Given the description of an element on the screen output the (x, y) to click on. 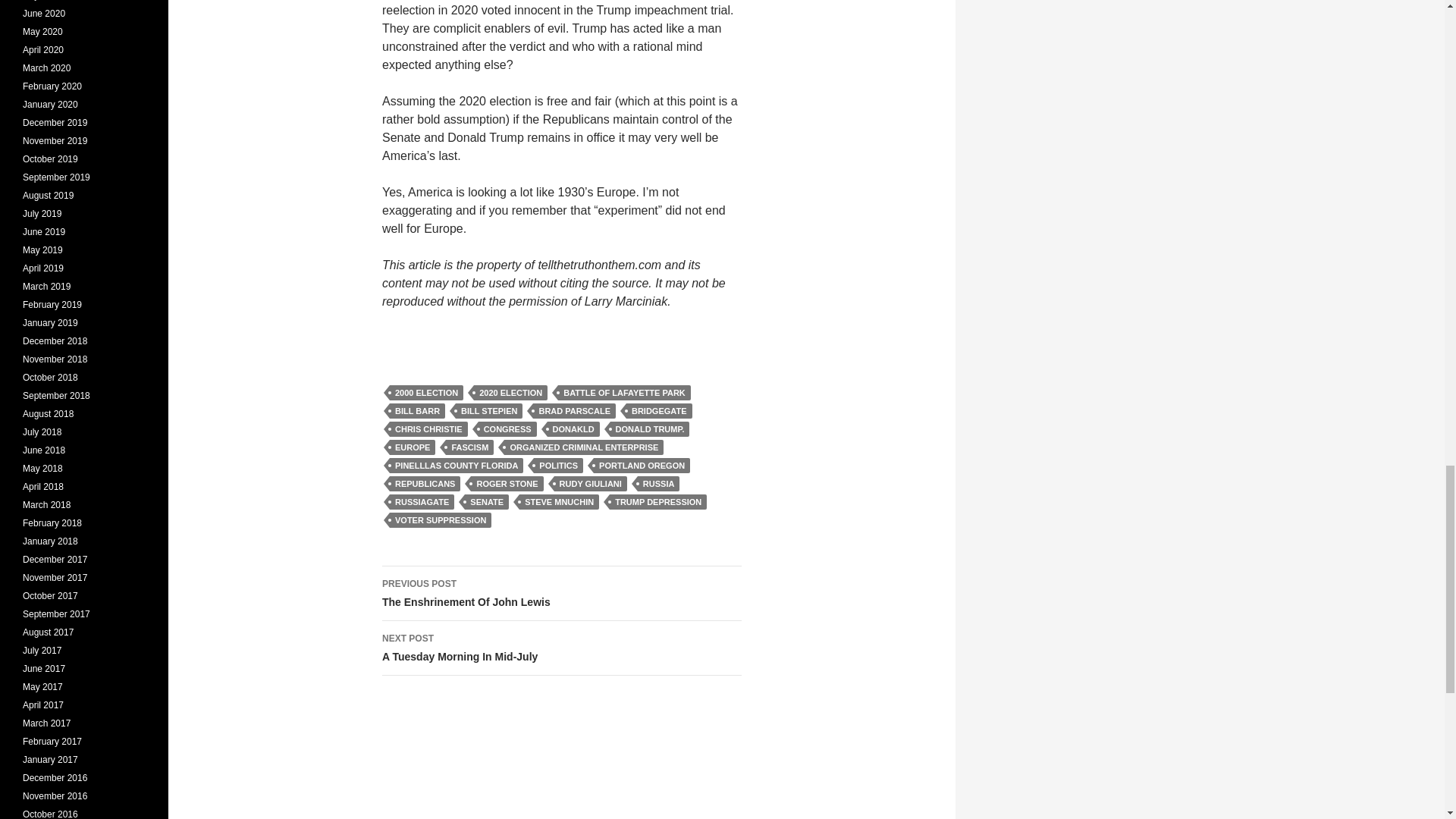
EUROPE (412, 447)
PINELLLAS COUNTY FLORIDA (456, 465)
REPUBLICANS (425, 483)
RUSSIA (658, 483)
ROGER STONE (506, 483)
RUDY GIULIANI (590, 483)
BATTLE OF LAFAYETTE PARK (623, 392)
DONALD TRUMP. (650, 428)
BILL BARR (417, 410)
ORGANIZED CRIMINAL ENTERPRISE (583, 447)
CONGRESS (508, 428)
RUSSIAGATE (422, 501)
POLITICS (558, 465)
FASCISM (469, 447)
DONAKLD (573, 428)
